Given the description of an element on the screen output the (x, y) to click on. 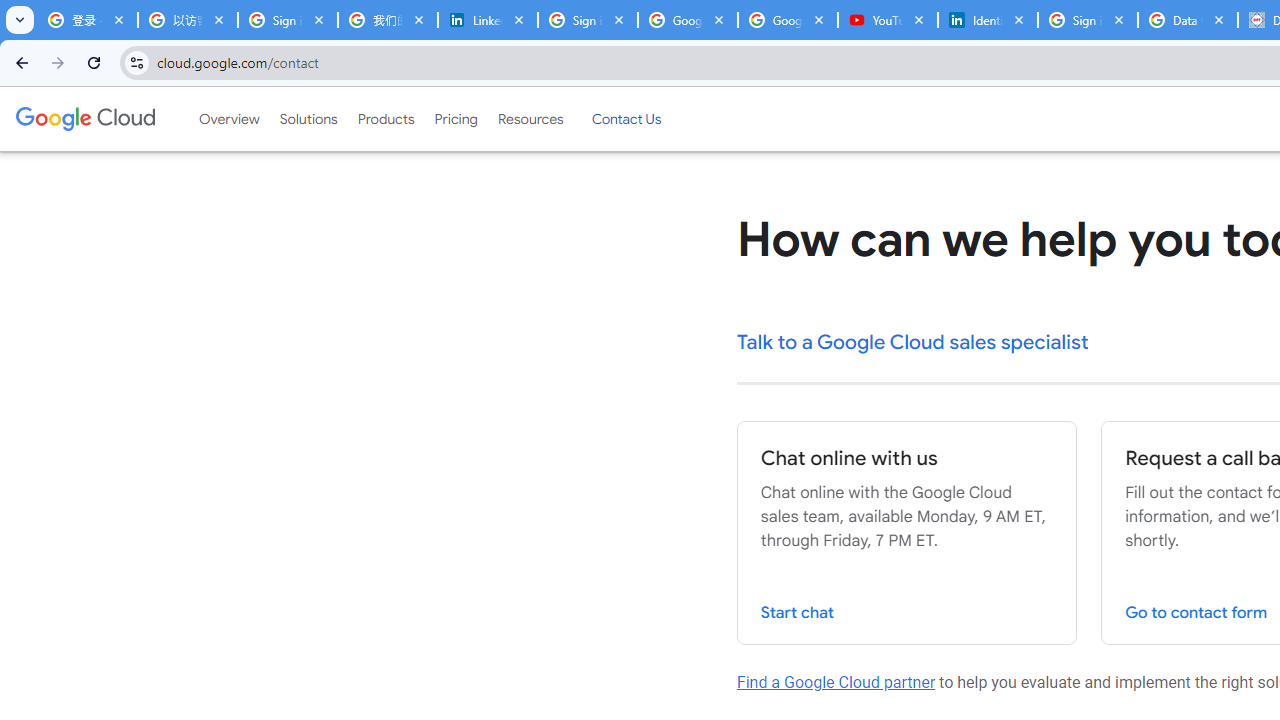
Reload (93, 62)
Resources (530, 119)
Sign in - Google Accounts (587, 20)
Identity verification via Persona | LinkedIn Help (988, 20)
Sign in - Google Accounts (1087, 20)
Search tabs (20, 20)
Forward (57, 62)
Google Cloud (84, 118)
Products (385, 119)
